Given the description of an element on the screen output the (x, y) to click on. 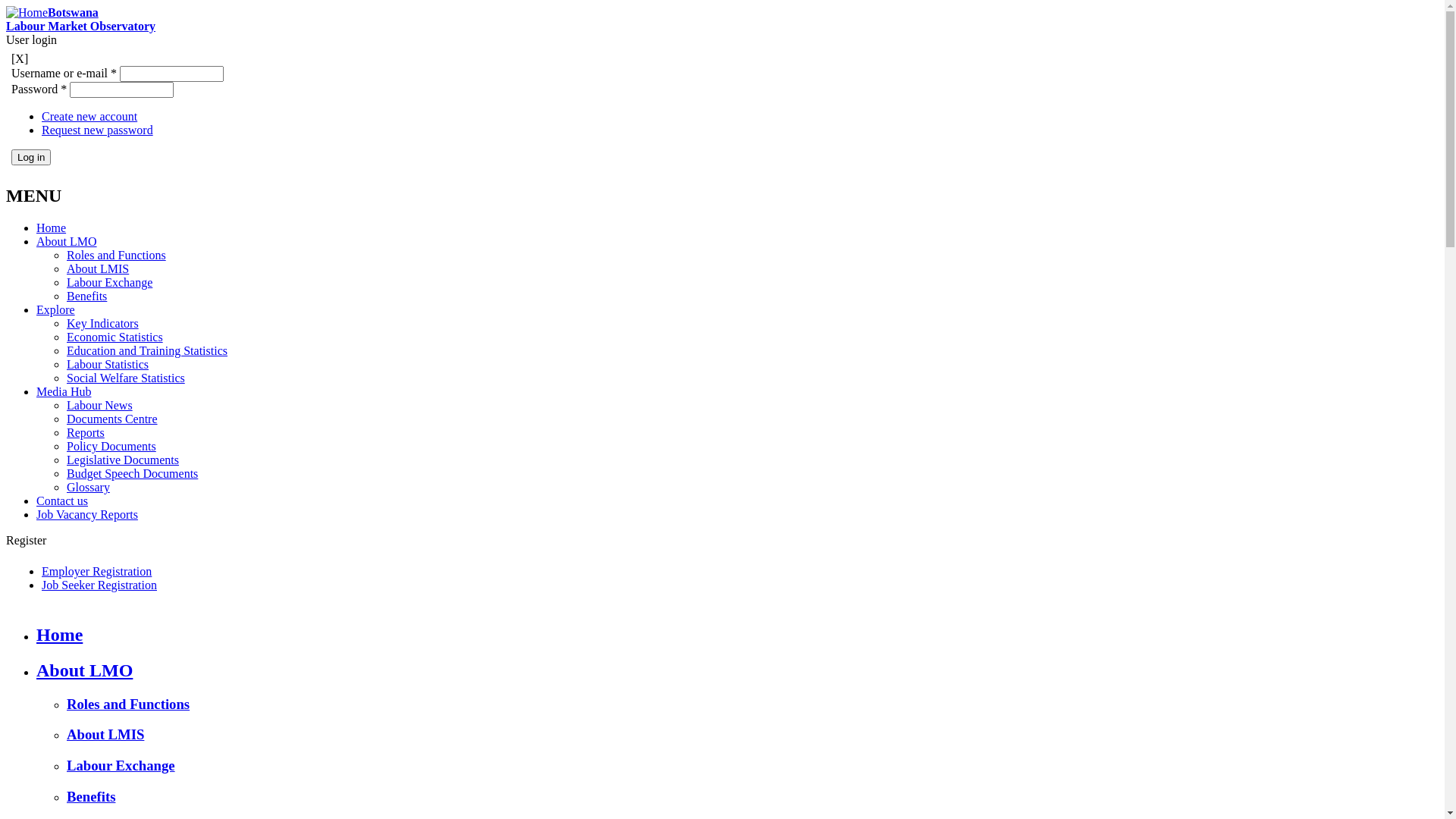
Job Seeker Registration Element type: text (98, 584)
Create new account Element type: text (89, 115)
[X] Element type: text (19, 58)
Budget Speech Documents Element type: text (131, 473)
Labour Exchange Element type: text (109, 282)
Benefits Element type: text (86, 295)
Contact us Element type: text (61, 500)
Log in Element type: text (30, 157)
Reports Element type: text (85, 432)
Labour News Element type: text (99, 404)
Register Element type: text (26, 539)
Documents Centre Element type: text (111, 418)
Roles and Functions Element type: text (127, 704)
Policy Documents Element type: text (111, 445)
Explore Element type: text (55, 309)
About LMIS Element type: text (105, 734)
Benefits Element type: text (90, 796)
Labour Exchange Element type: text (120, 765)
Botswana
Labour Market Observatory Element type: text (80, 19)
Request new password Element type: text (97, 129)
Skip to main content Element type: text (56, 6)
Legislative Documents Element type: text (122, 459)
Economic Statistics Element type: text (114, 336)
Glossary Element type: text (87, 486)
Job Vacancy Reports Element type: text (87, 514)
Labour Statistics Element type: text (107, 363)
Home Element type: text (50, 227)
Employer Registration Element type: text (96, 570)
Key Indicators Element type: text (102, 322)
Social Welfare Statistics Element type: text (125, 377)
Roles and Functions Element type: text (116, 254)
Home Element type: text (59, 634)
About LMO Element type: text (84, 670)
Education and Training Statistics Element type: text (146, 350)
User login Element type: text (31, 39)
About LMO Element type: text (66, 241)
About LMIS Element type: text (97, 268)
Media Hub Element type: text (63, 391)
